Given the description of an element on the screen output the (x, y) to click on. 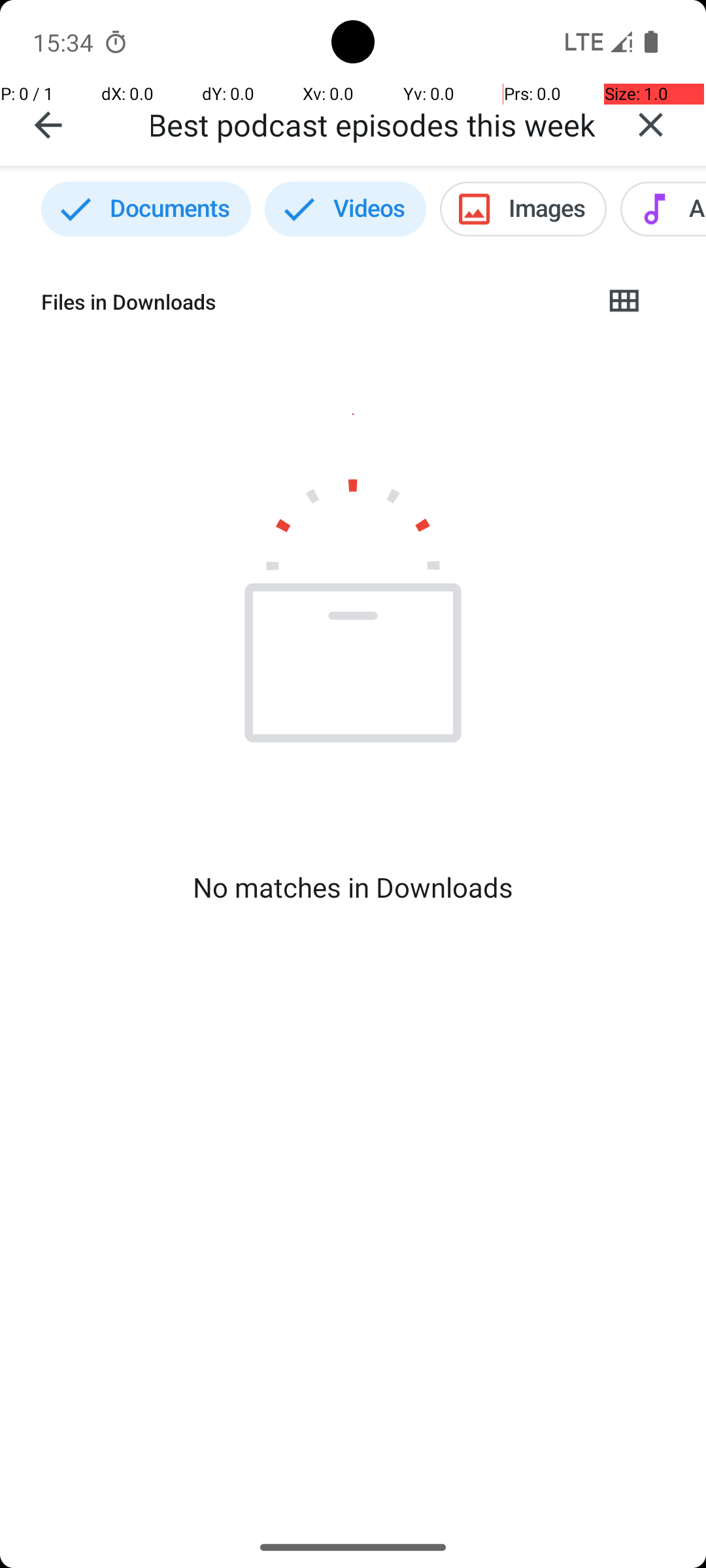
Best podcast episodes this week Element type: android.widget.AutoCompleteTextView (373, 124)
Clear query Element type: android.widget.ImageView (650, 124)
